Given the description of an element on the screen output the (x, y) to click on. 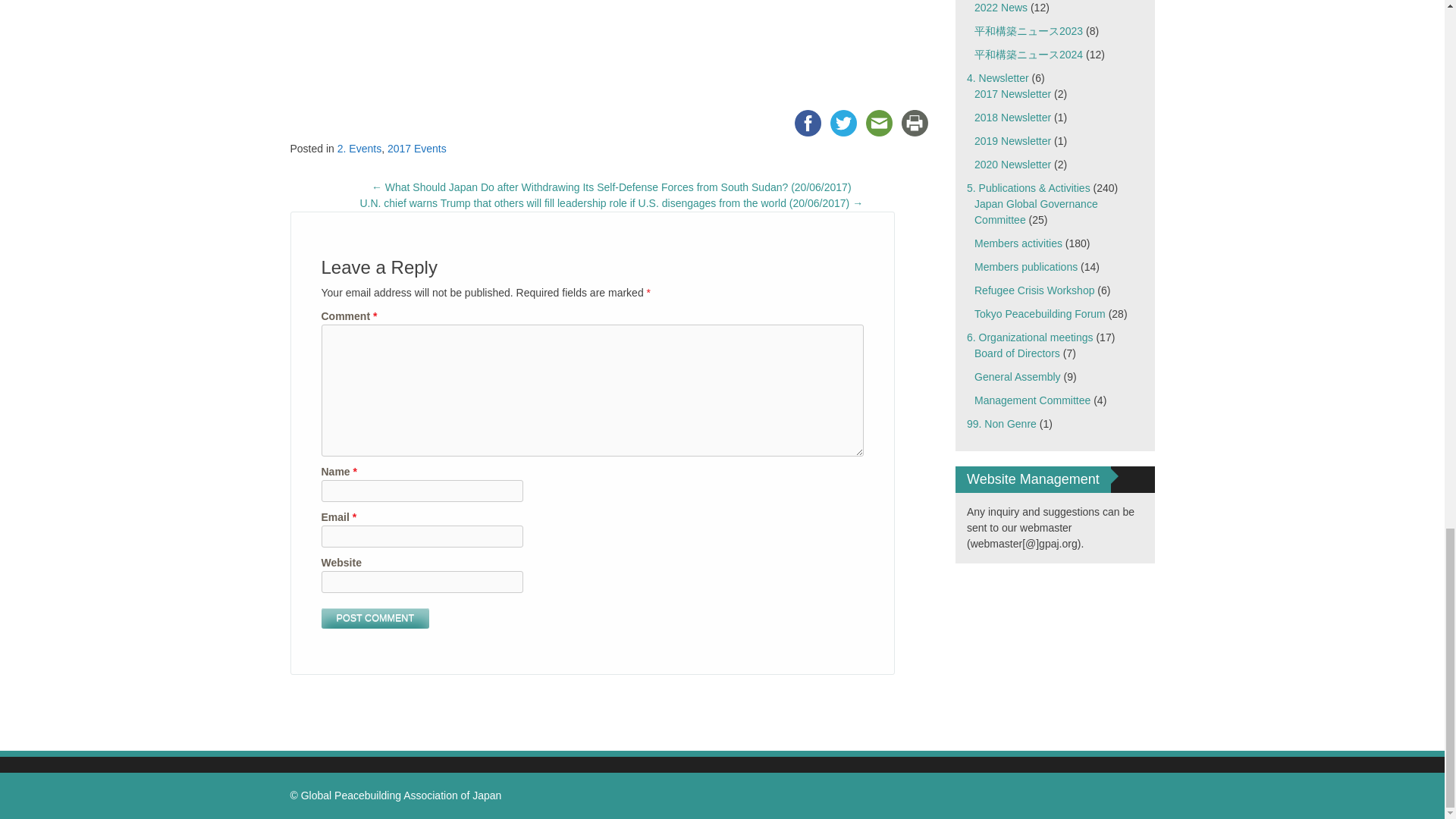
email (878, 122)
Post Comment (375, 618)
facebook (807, 122)
print (914, 122)
twitter (843, 122)
